Given the description of an element on the screen output the (x, y) to click on. 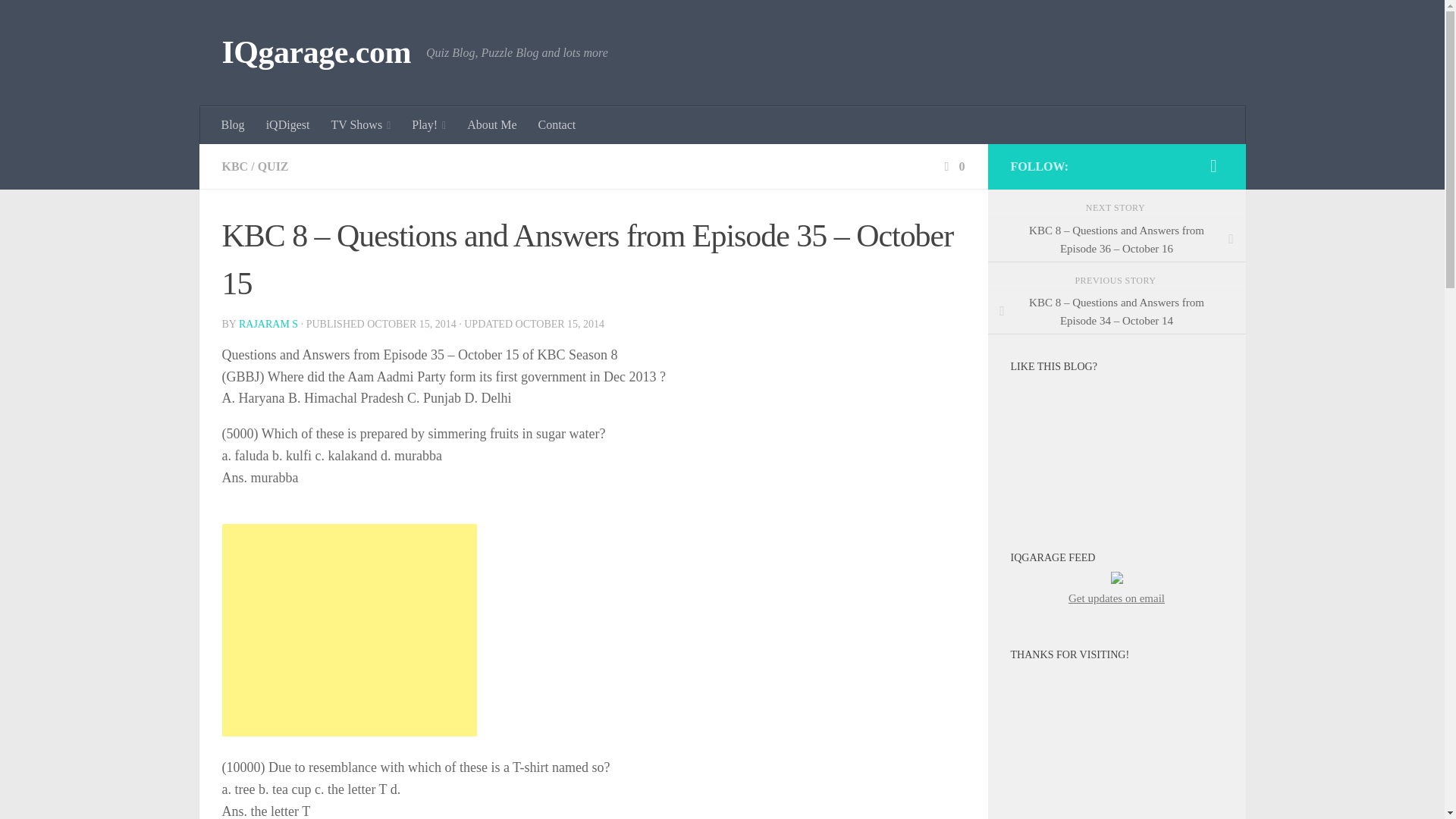
IQgarage.com (315, 53)
Contact (556, 125)
iQDigest (288, 125)
TV Shows (360, 125)
Posts by Rajaram S (268, 324)
QUIZ (272, 165)
Skip to content (59, 20)
Play! (429, 125)
Blog (233, 125)
KBC (234, 165)
